Given the description of an element on the screen output the (x, y) to click on. 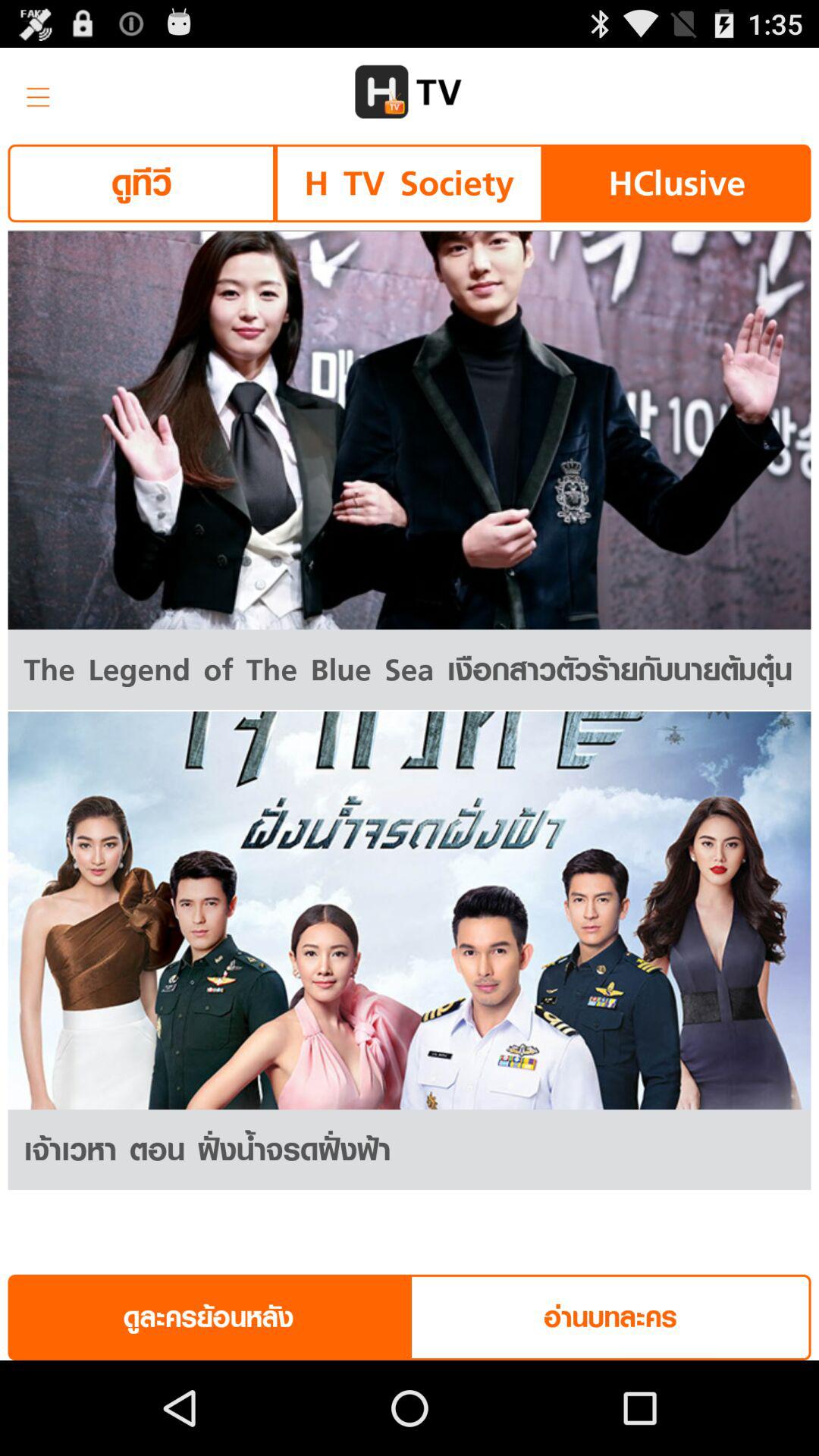
turn off the item to the left of the h tv society button (141, 183)
